Given the description of an element on the screen output the (x, y) to click on. 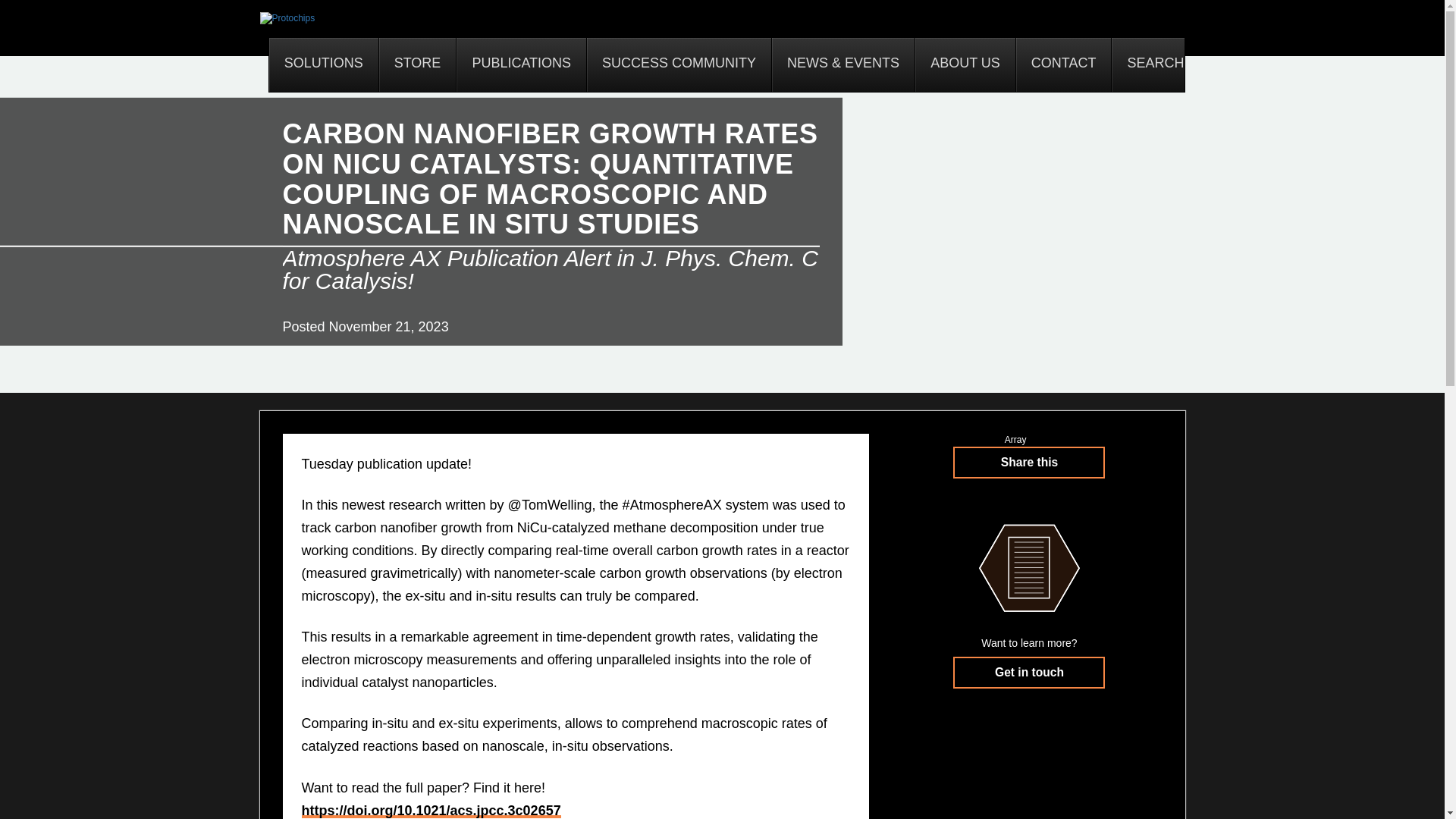
SUCCESS COMMUNITY (678, 64)
ABOUT US (964, 64)
CONTACT (1063, 64)
STORE (417, 64)
PUBLICATIONS (520, 64)
SOLUTIONS (323, 64)
